Given the description of an element on the screen output the (x, y) to click on. 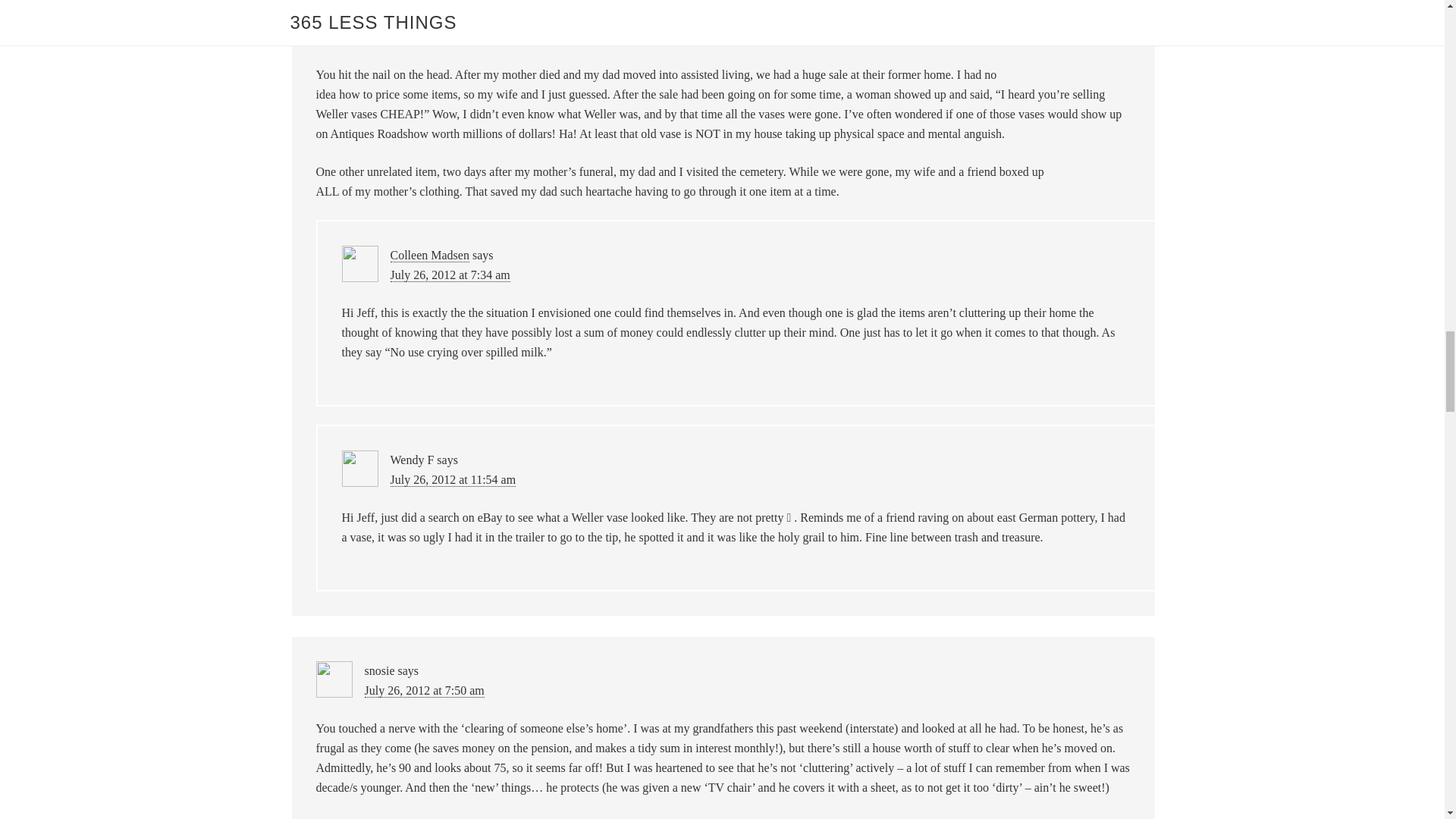
July 26, 2012 at 7:21 am (423, 37)
July 26, 2012 at 7:50 am (423, 690)
July 26, 2012 at 7:34 am (449, 274)
Colleen Madsen (429, 255)
July 26, 2012 at 11:54 am (452, 479)
